Given the description of an element on the screen output the (x, y) to click on. 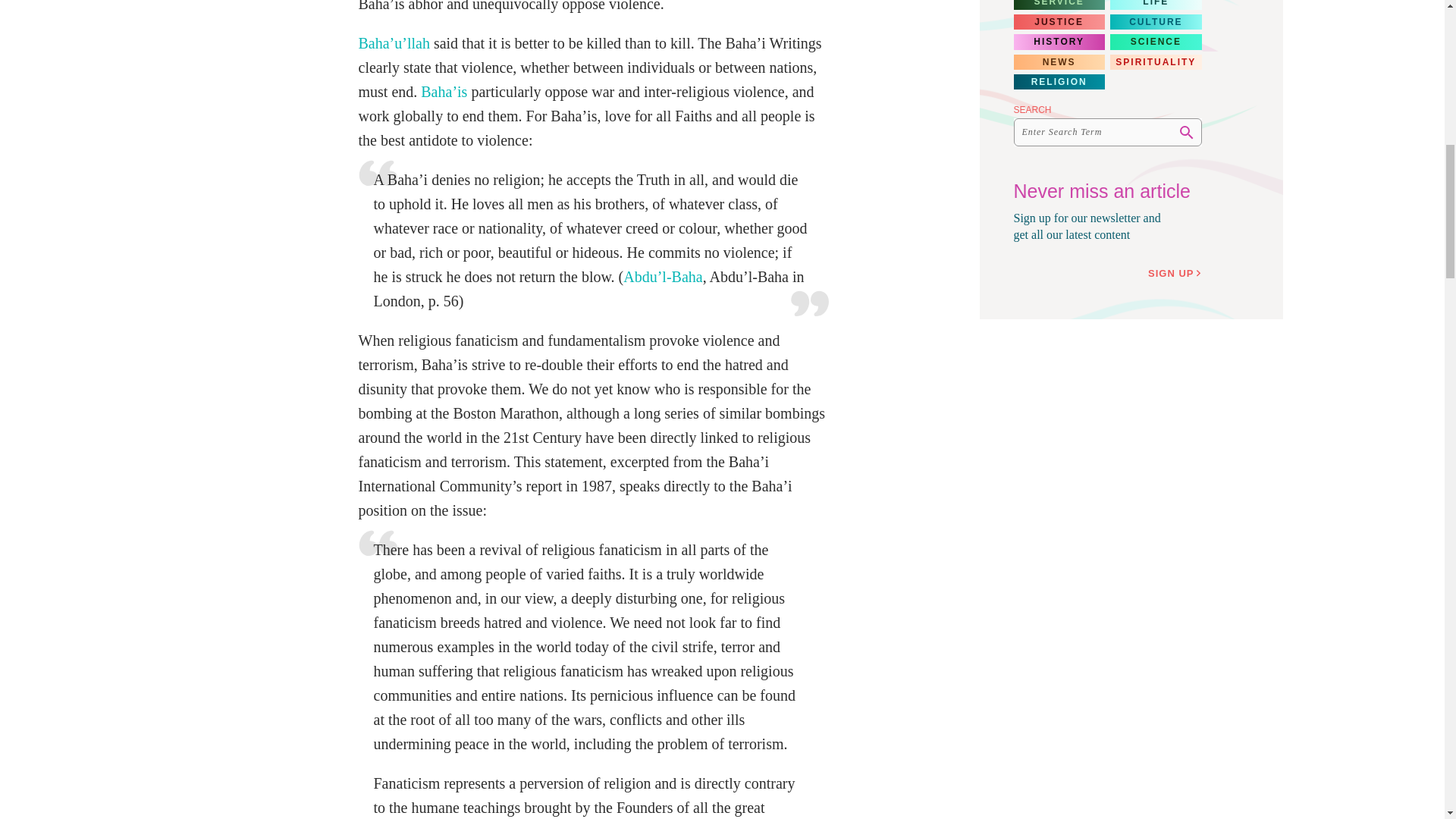
SERVICE (1058, 4)
LIFE (1155, 4)
JUSTICE (1058, 21)
NEWS (1058, 61)
SPIRITUALITY (1155, 61)
Search (1185, 132)
SCIENCE (1155, 41)
Search for: (1107, 131)
HISTORY (1058, 41)
SIGN UP (1176, 273)
